Given the description of an element on the screen output the (x, y) to click on. 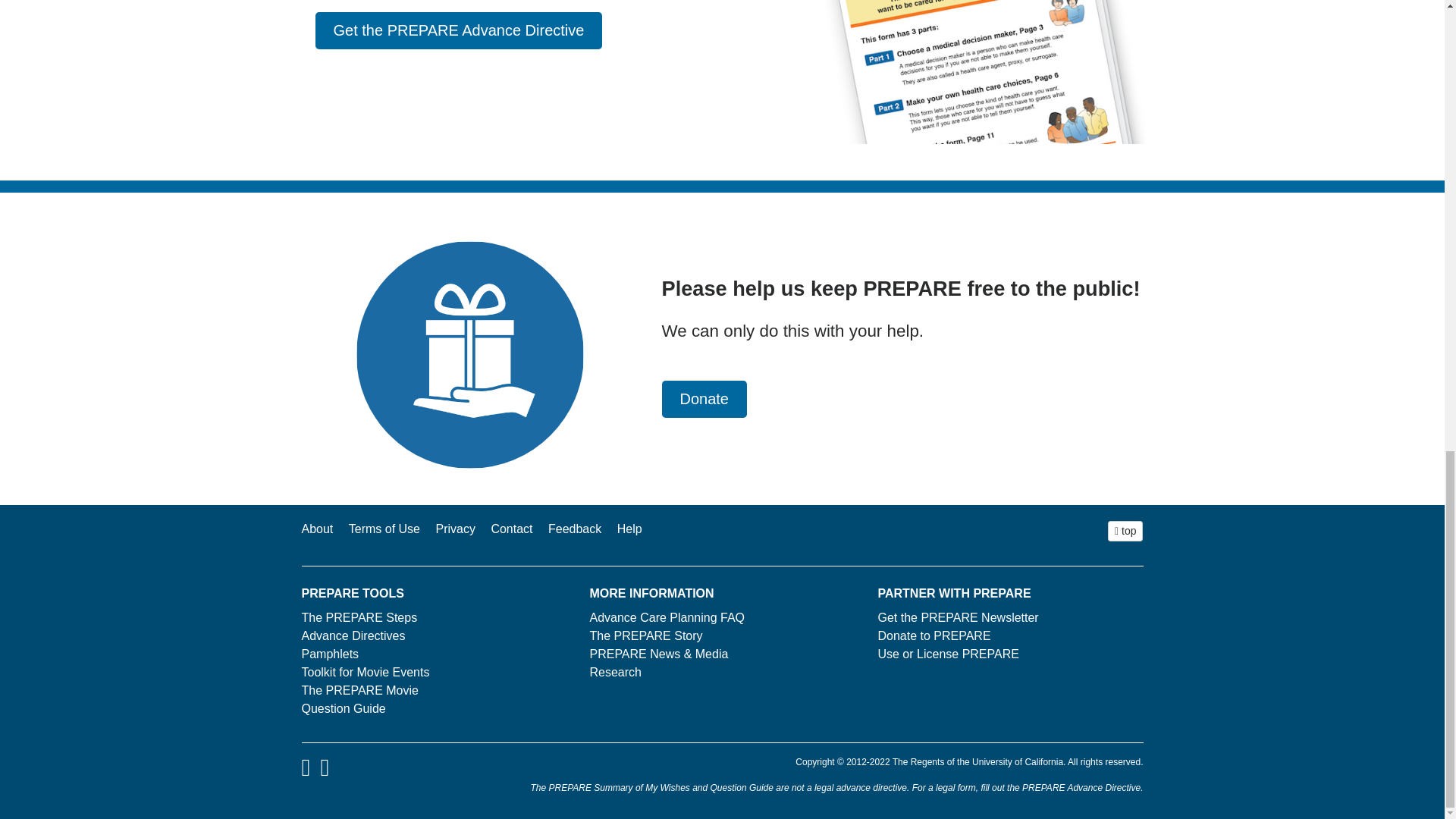
Question Guide (343, 707)
Get the PREPARE Newsletter (957, 617)
Donate to PREPARE (933, 635)
Advance Directives (353, 635)
Help (629, 528)
The PREPARE Steps (359, 617)
Advance Care Planning FAQ (666, 617)
The PREPARE Movie (360, 689)
Terms of Use (384, 528)
Contact (511, 528)
Donate (703, 398)
Feedback (574, 528)
top (1125, 531)
Toolkit for Movie Events (365, 671)
Privacy (454, 528)
